Given the description of an element on the screen output the (x, y) to click on. 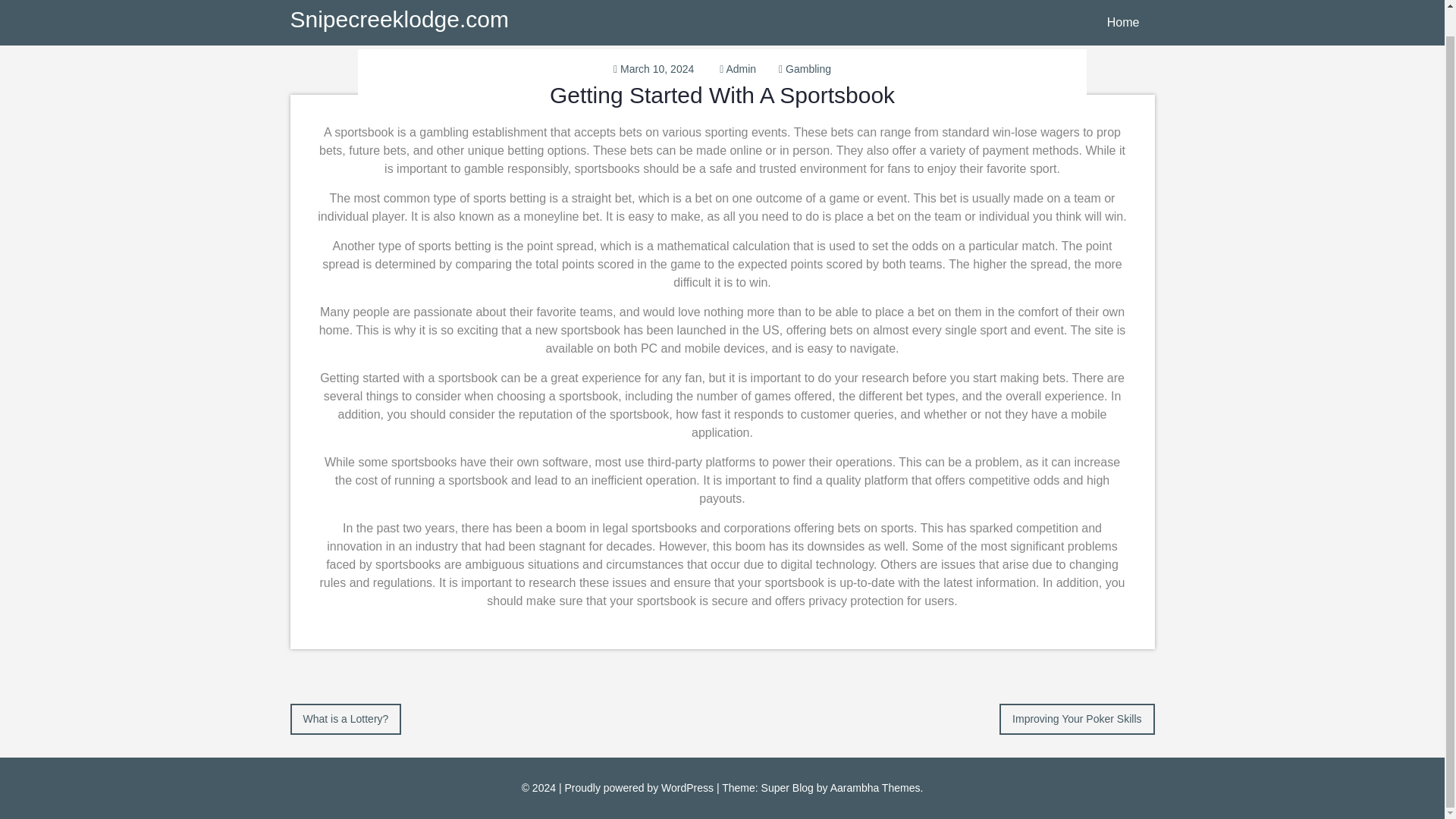
March 10, 2024 (657, 69)
Aarambha Themes (874, 787)
WordPress (687, 787)
Improving Your Poker Skills (1076, 717)
Home (1123, 9)
What is a Lottery? (345, 717)
Gambling (808, 69)
Admin (740, 69)
Snipecreeklodge.com (398, 2)
